Given the description of an element on the screen output the (x, y) to click on. 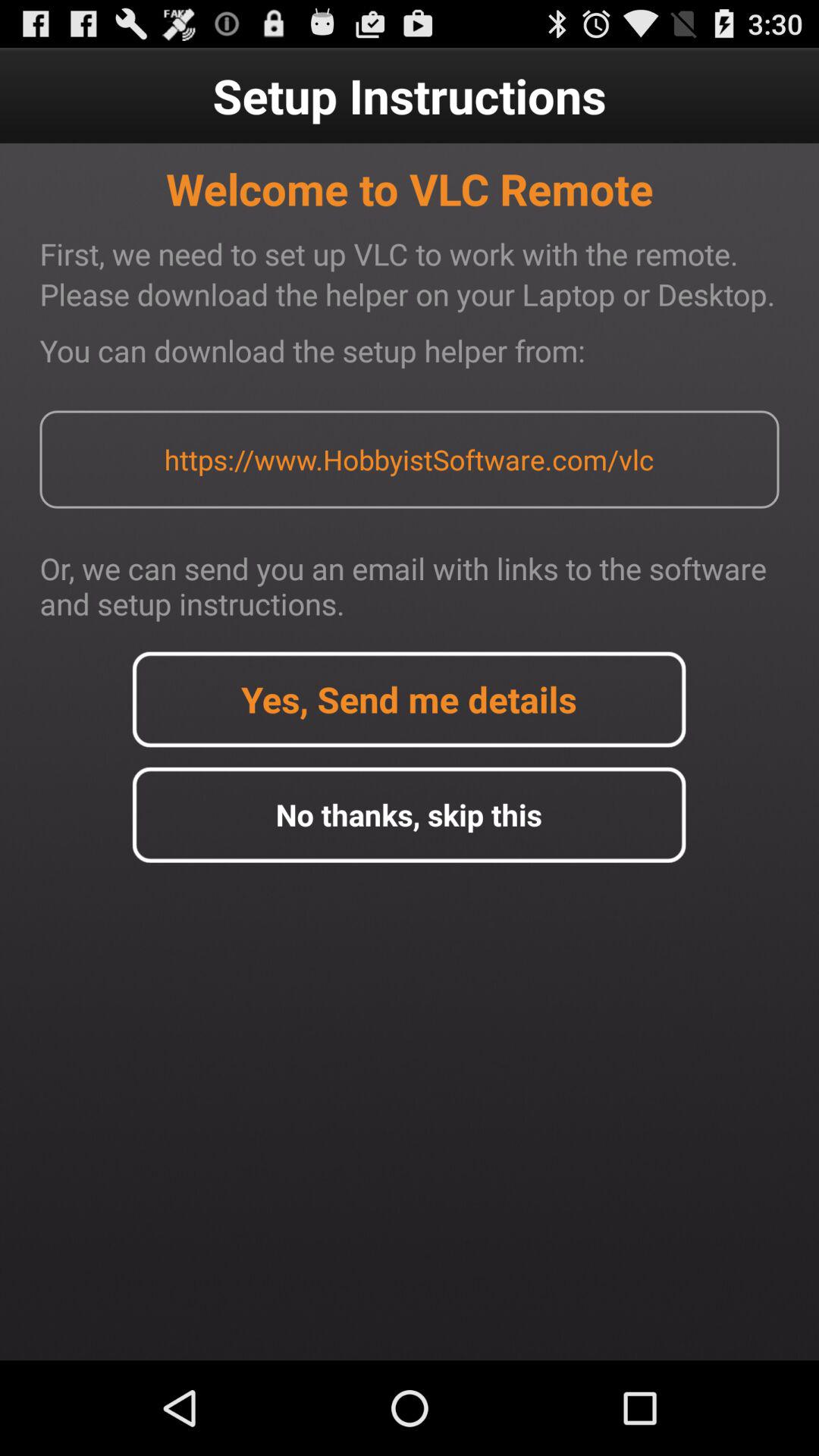
select detail option (408, 699)
